Given the description of an element on the screen output the (x, y) to click on. 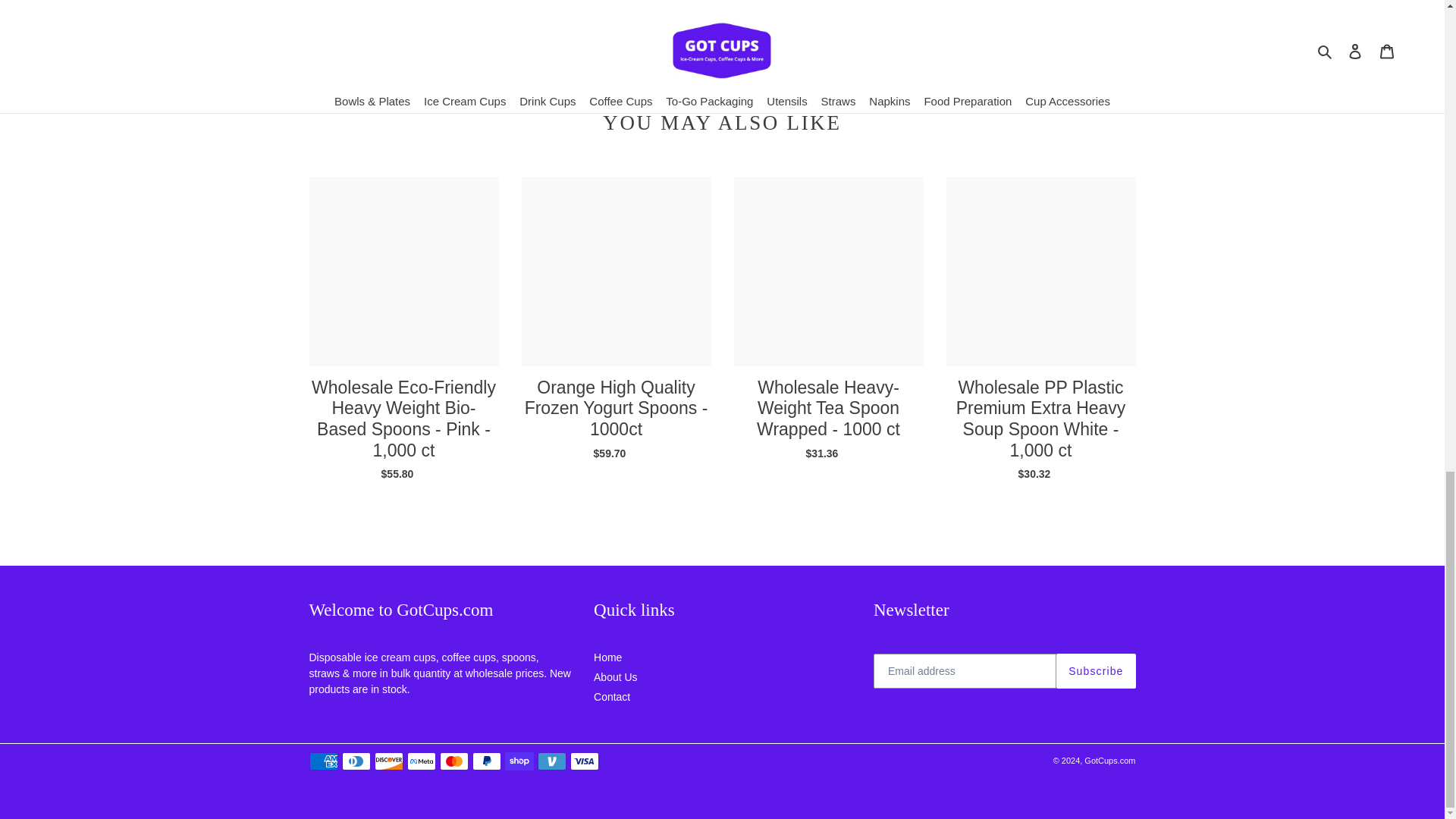
Mastercard (453, 761)
Shop Pay (519, 761)
Diners Club (354, 761)
Discover (388, 761)
Venmo (551, 761)
Visa (584, 761)
PayPal (485, 761)
American Express (322, 761)
Meta Pay (420, 761)
